Given the description of an element on the screen output the (x, y) to click on. 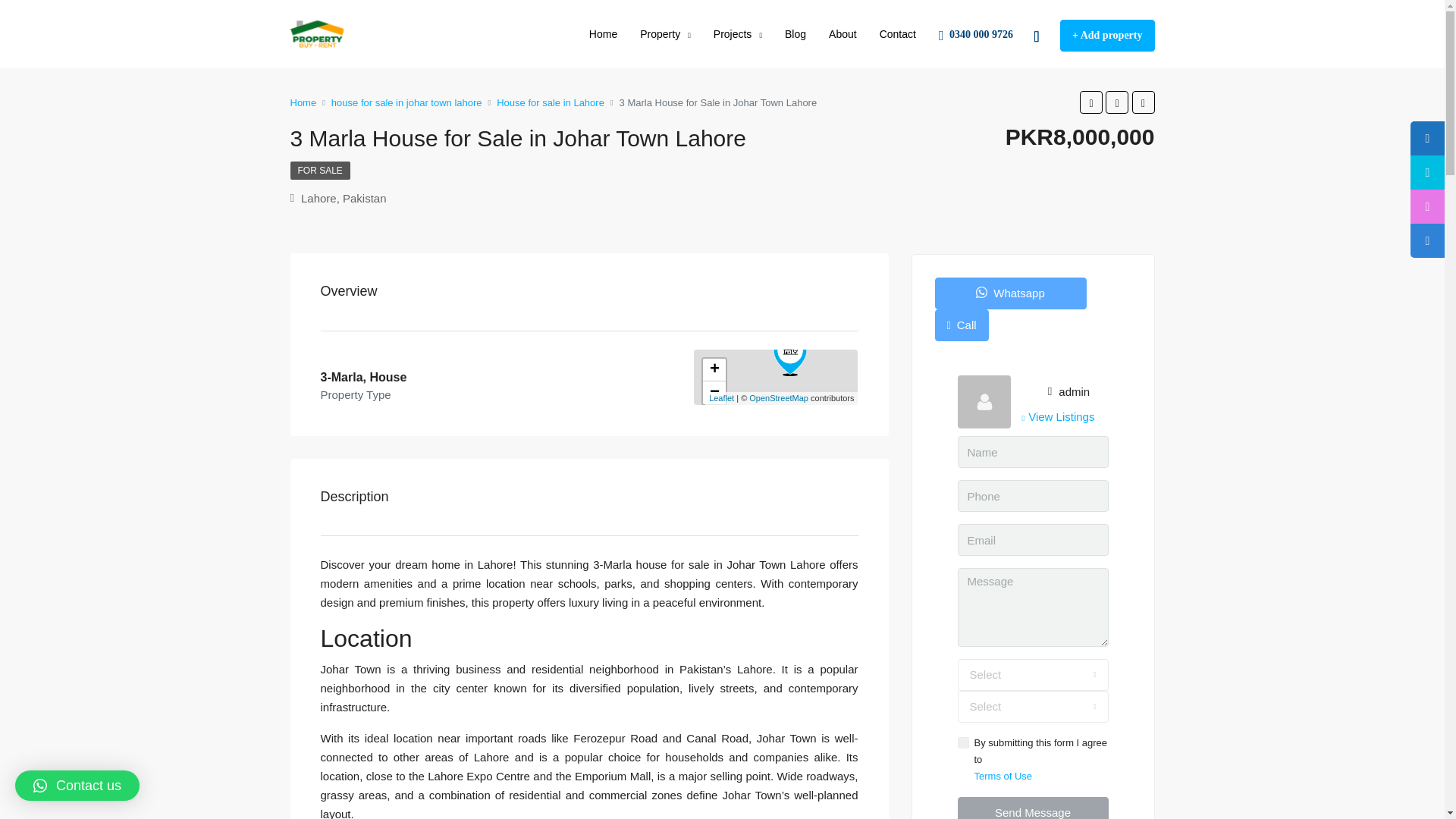
Zoom in (714, 369)
Zoom out (714, 392)
Projects (737, 34)
Property (664, 34)
A JS library for interactive maps (721, 397)
